Given the description of an element on the screen output the (x, y) to click on. 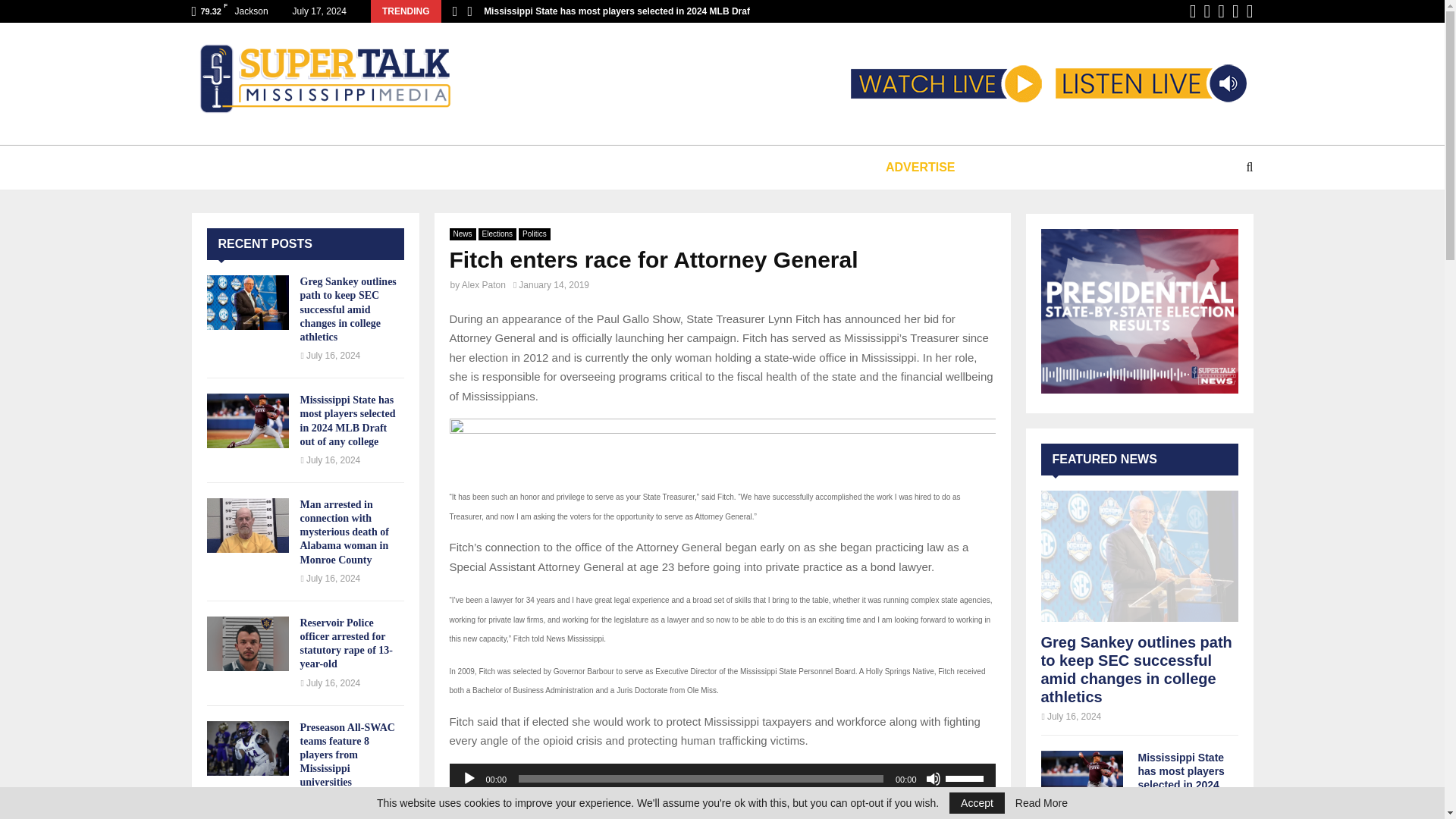
Play (468, 778)
Mute (932, 778)
TUNE IN (255, 167)
STATIONS (345, 167)
